Given the description of an element on the screen output the (x, y) to click on. 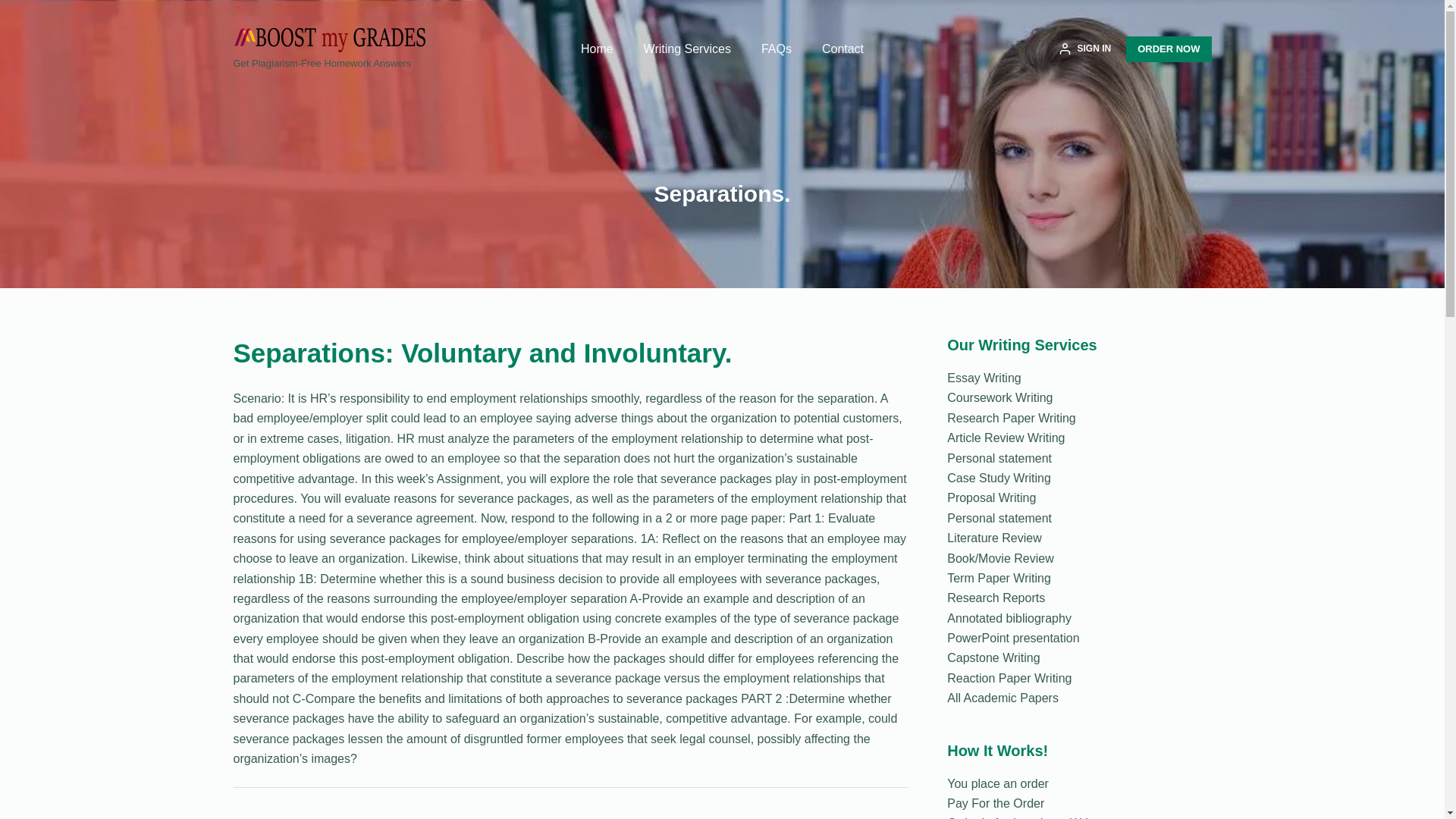
SIGN IN (1084, 48)
Skip to content (15, 7)
Writing Services (686, 49)
All Academic Papers (1002, 697)
Separations. (721, 192)
place an order (1009, 783)
ORDER NOW (1168, 49)
